Given the description of an element on the screen output the (x, y) to click on. 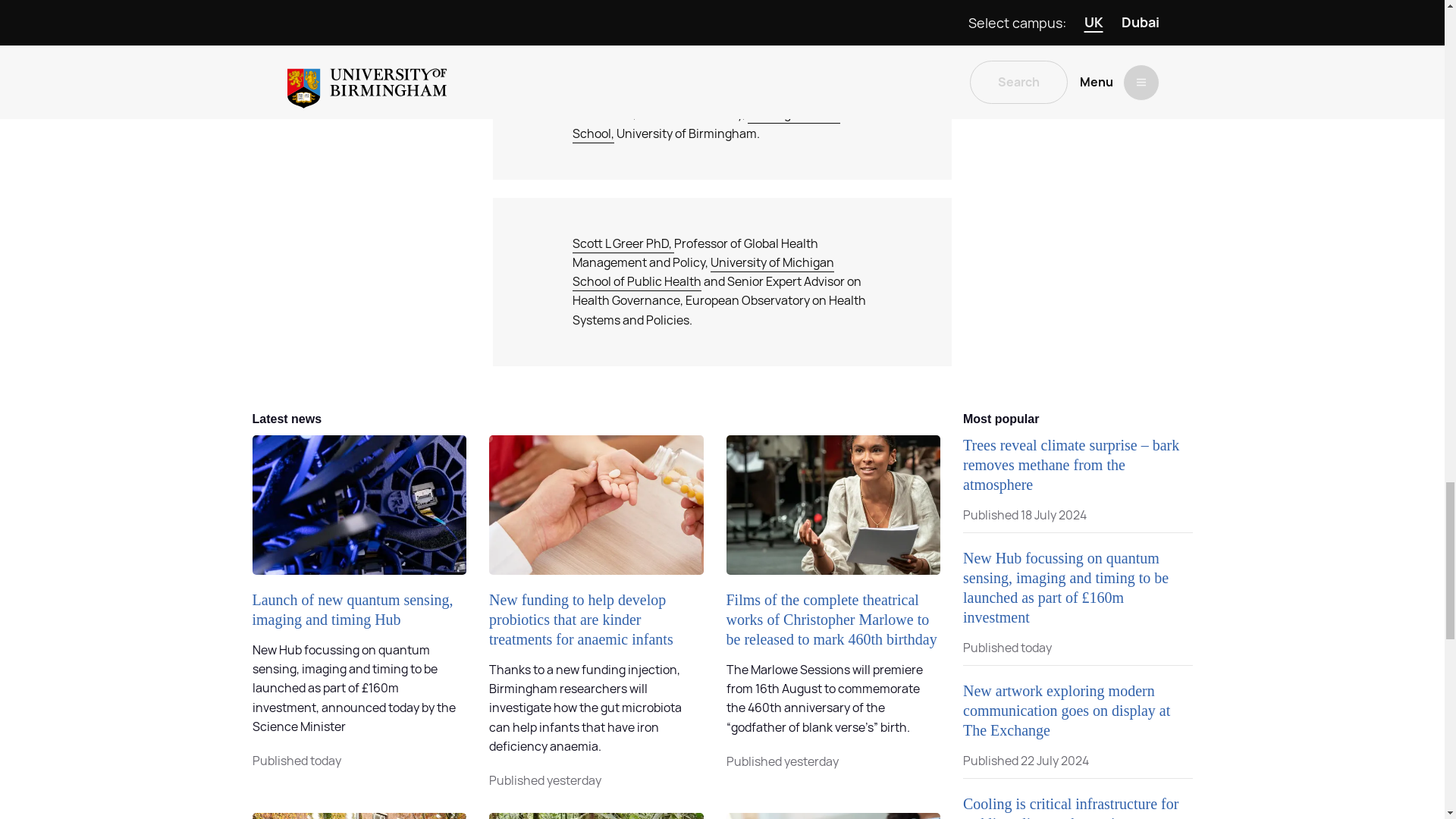
Birmingham Law School, (706, 123)
Scott L Greer PhD, (623, 244)
University of Michigan School of Public Health (703, 272)
Professor Jean McHale, (636, 95)
